Given the description of an element on the screen output the (x, y) to click on. 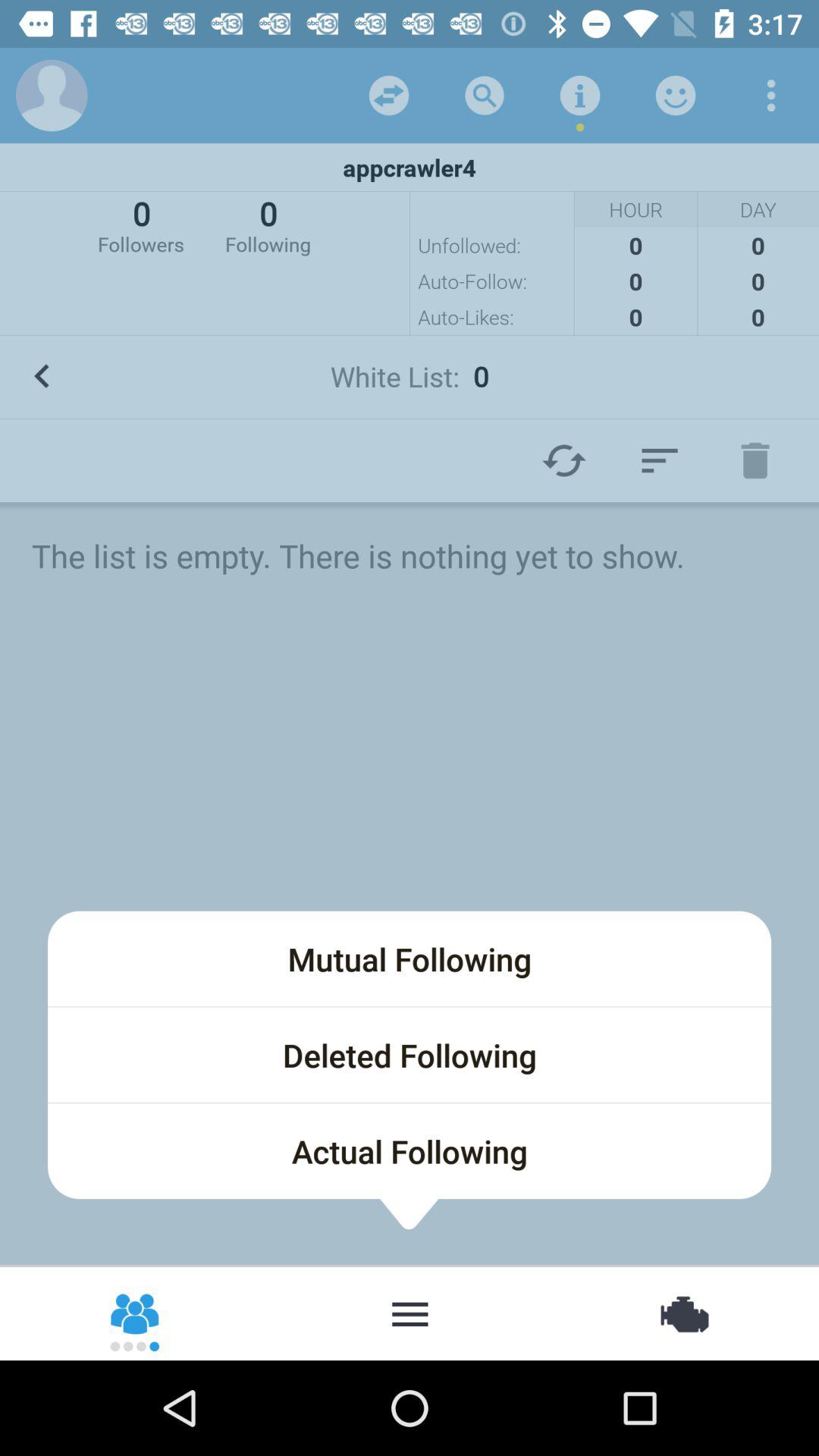
swipe to the 0
followers icon (140, 224)
